Given the description of an element on the screen output the (x, y) to click on. 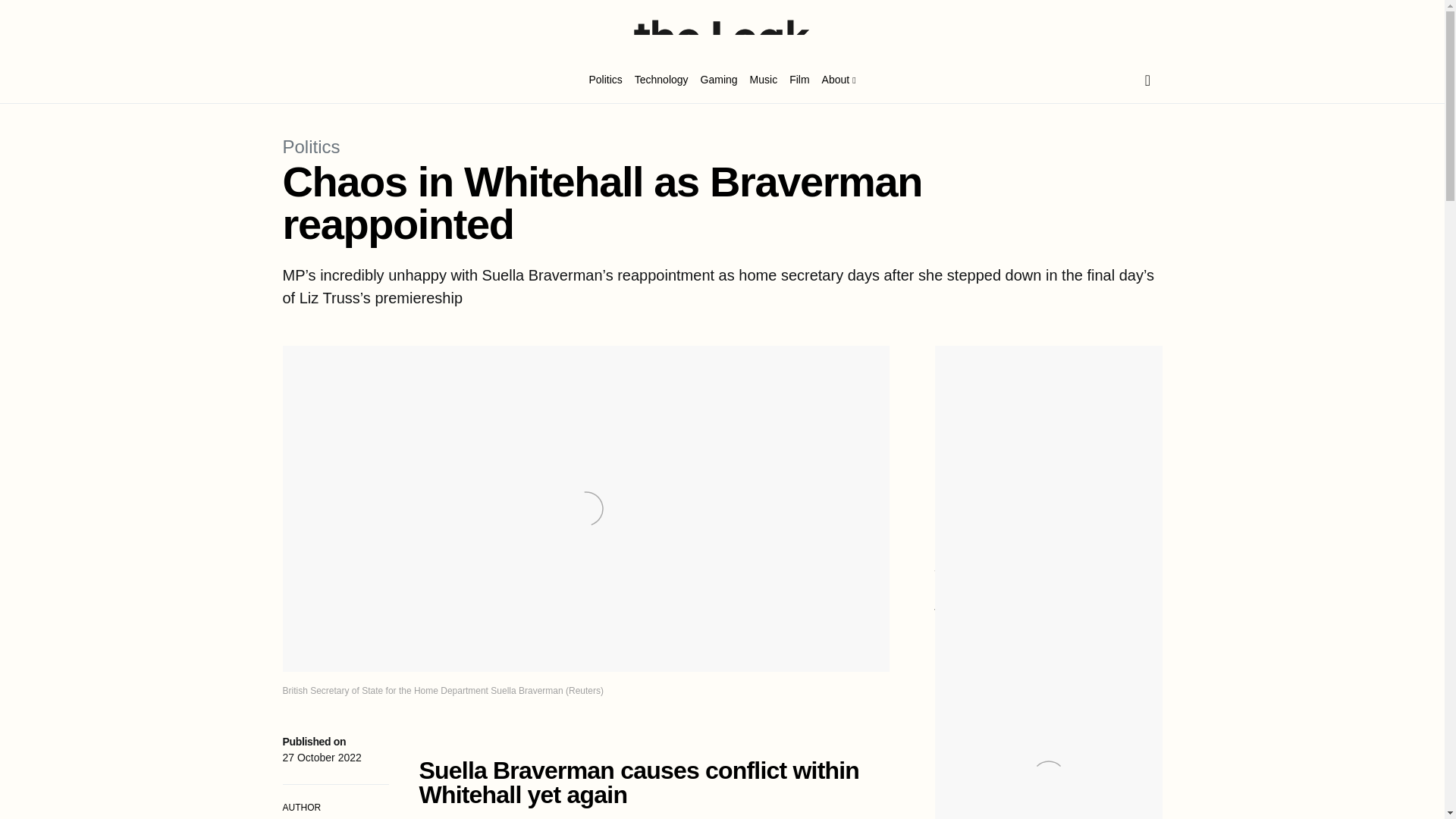
Gaming (719, 80)
Politics (310, 146)
Technology (661, 80)
